Given the description of an element on the screen output the (x, y) to click on. 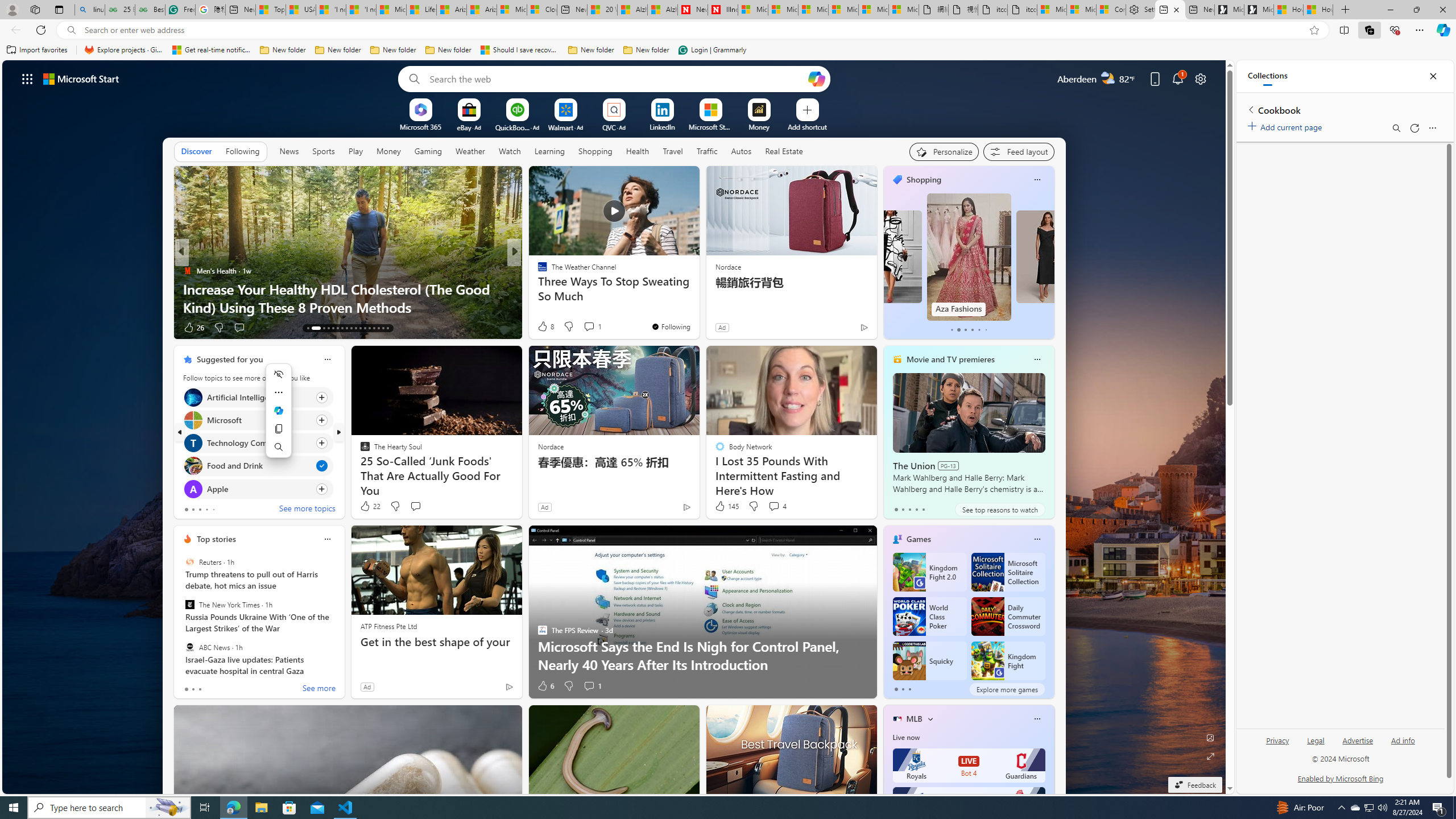
AutomationID: tab-24 (364, 328)
Traffic (706, 151)
Click to follow topic Apple (257, 488)
View comments 65 Comment (589, 327)
8 Like (545, 326)
Get in the best shape of your (435, 641)
40 Like (543, 327)
tab-0 (895, 689)
Click to follow topic Artificial Intelligence (257, 397)
